Given the description of an element on the screen output the (x, y) to click on. 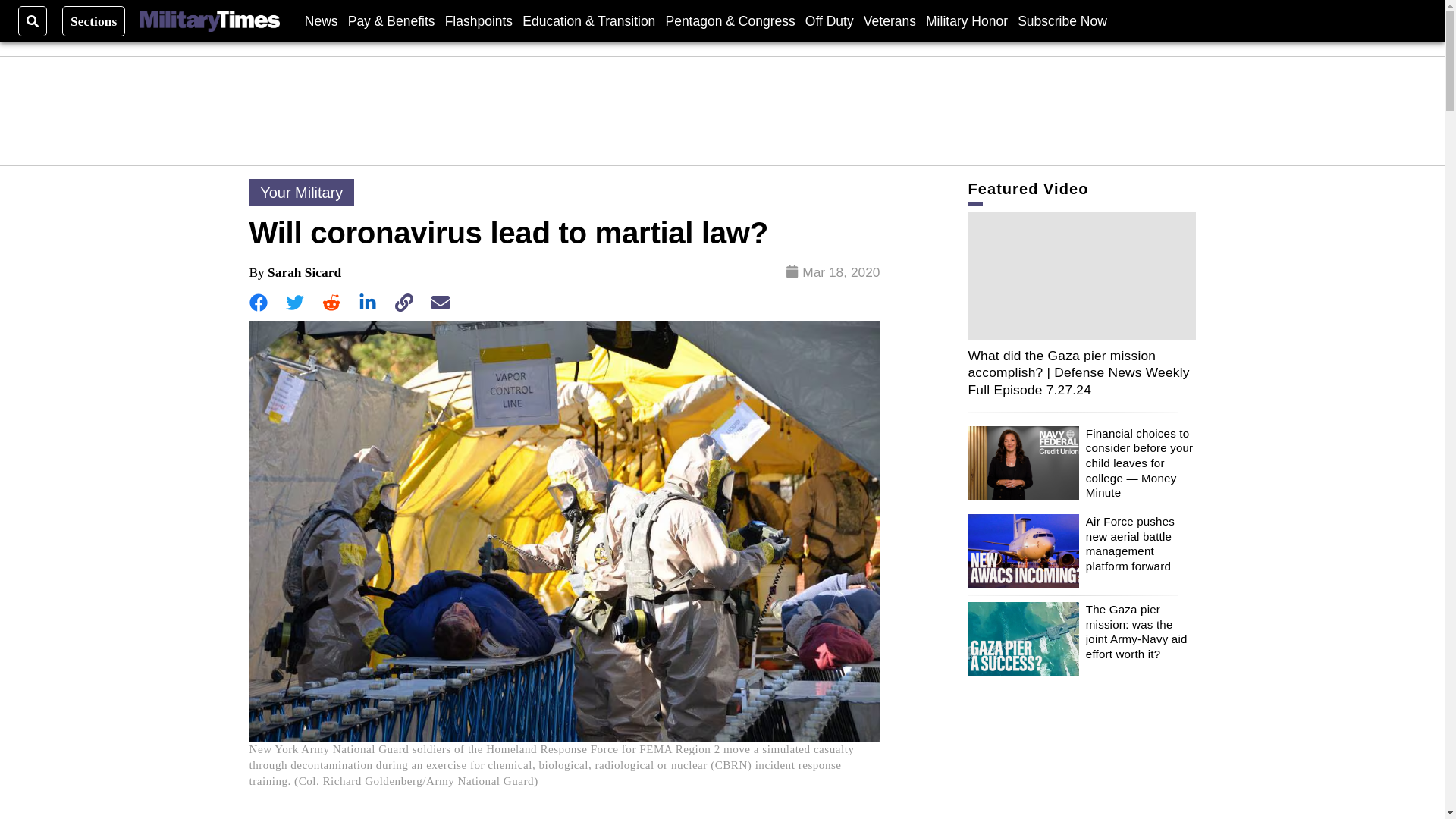
News (320, 20)
Flashpoints (479, 20)
Veterans (889, 20)
Off Duty (829, 20)
Military Honor (966, 20)
Sections (93, 20)
Military Times Logo (209, 20)
